Given the description of an element on the screen output the (x, y) to click on. 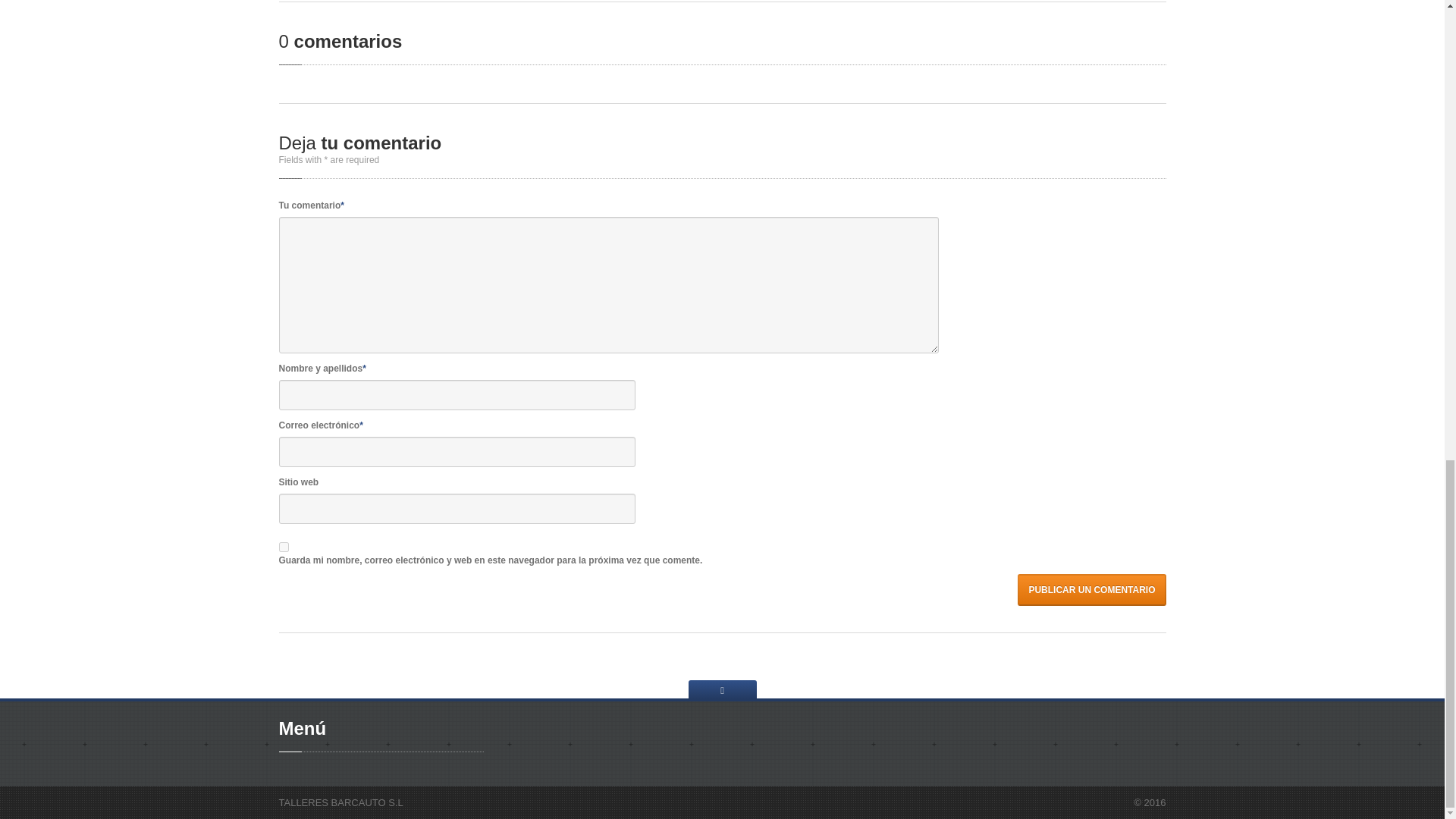
yes (283, 547)
Publicar un comentario (1091, 590)
Publicar un comentario (1091, 590)
